Given the description of an element on the screen output the (x, y) to click on. 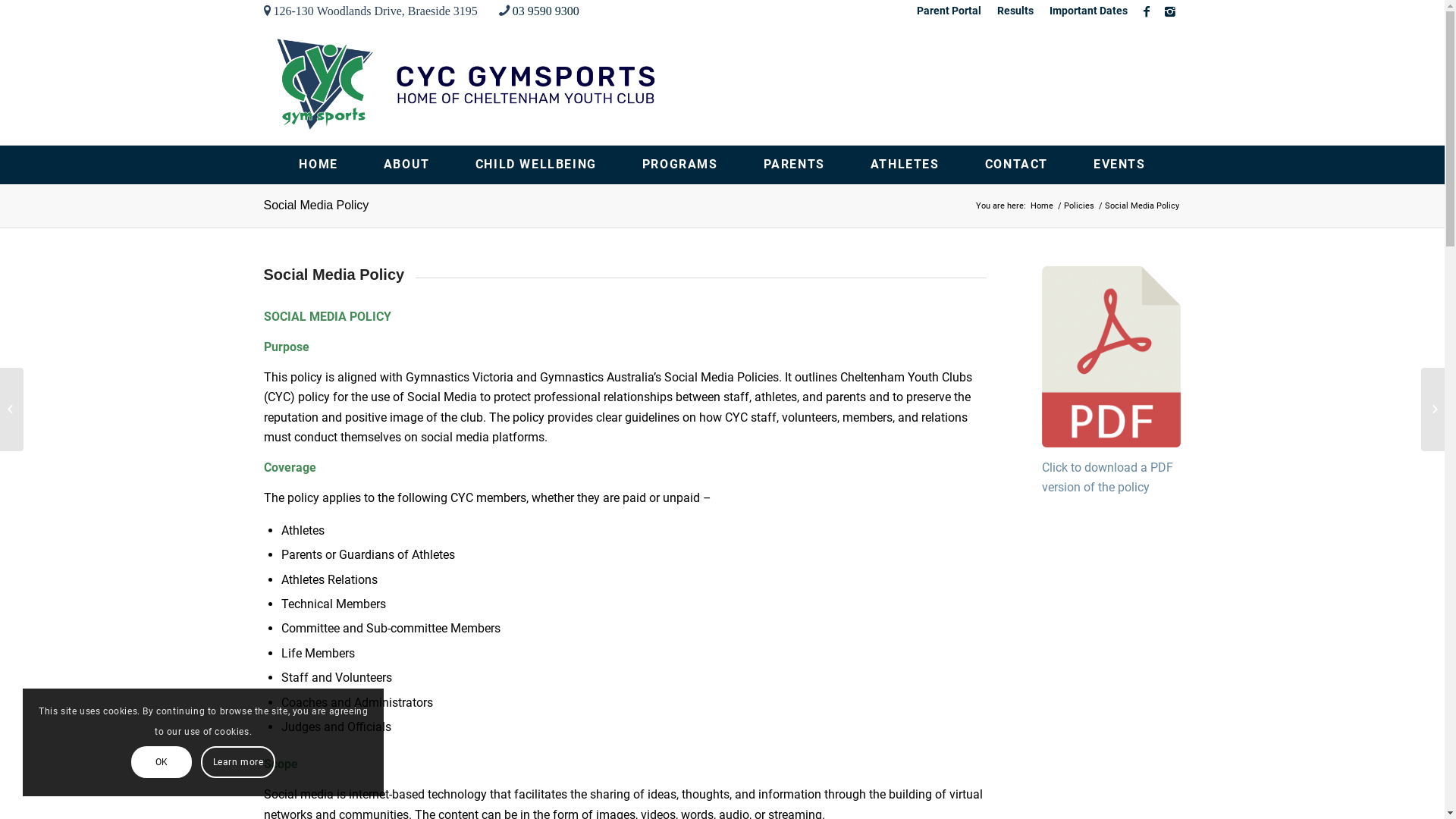
Important Dates Element type: text (1088, 11)
HOME Element type: text (318, 164)
ATHLETES Element type: text (904, 164)
Facebook Element type: hover (1146, 11)
pdf-icon Element type: hover (1111, 356)
Policies Element type: text (1078, 205)
ABOUT Element type: text (406, 164)
Click to download a PDF version of the policy Element type: text (1107, 477)
Parent Portal Element type: text (948, 11)
OK Element type: text (161, 762)
Social Media Policy Element type: text (316, 204)
Results Element type: text (1014, 11)
EVENTS Element type: text (1119, 164)
CHILD WELLBEING Element type: text (535, 164)
Instagram Element type: hover (1169, 11)
Home Element type: text (1041, 205)
Learn more Element type: text (237, 762)
CONTACT Element type: text (1016, 164)
03 9590 9300 Element type: text (545, 10)
PARENTS Element type: text (793, 164)
PROGRAMS Element type: text (679, 164)
